Given the description of an element on the screen output the (x, y) to click on. 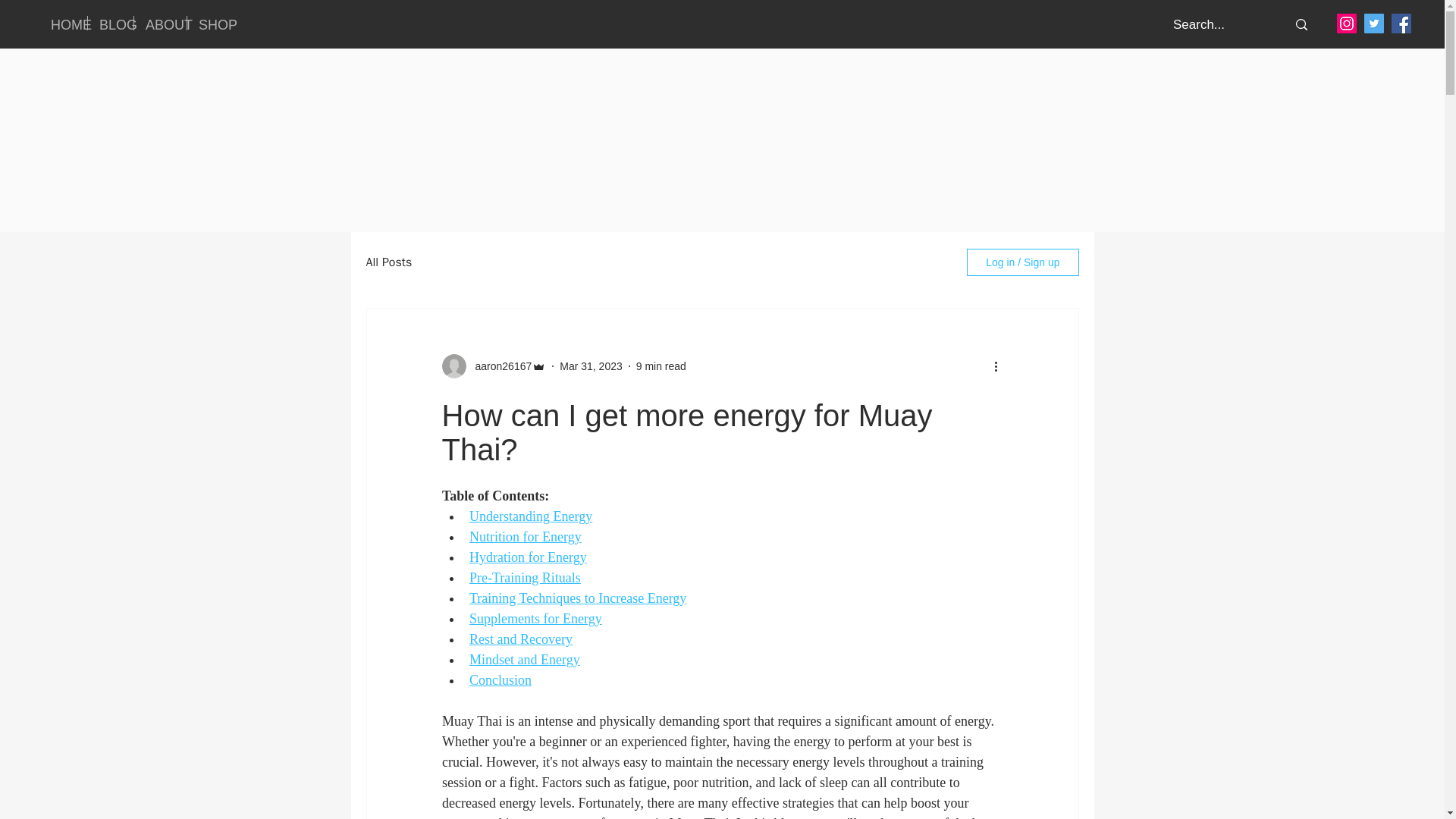
Understanding Energy (529, 516)
Nutrition for Energy (524, 536)
Rest and Recovery (520, 639)
Mindset and Energy (523, 659)
ABOUT (159, 22)
All Posts (388, 262)
SHOP (209, 22)
Conclusion (499, 679)
BLOG (110, 22)
aaron26167 (498, 365)
